Given the description of an element on the screen output the (x, y) to click on. 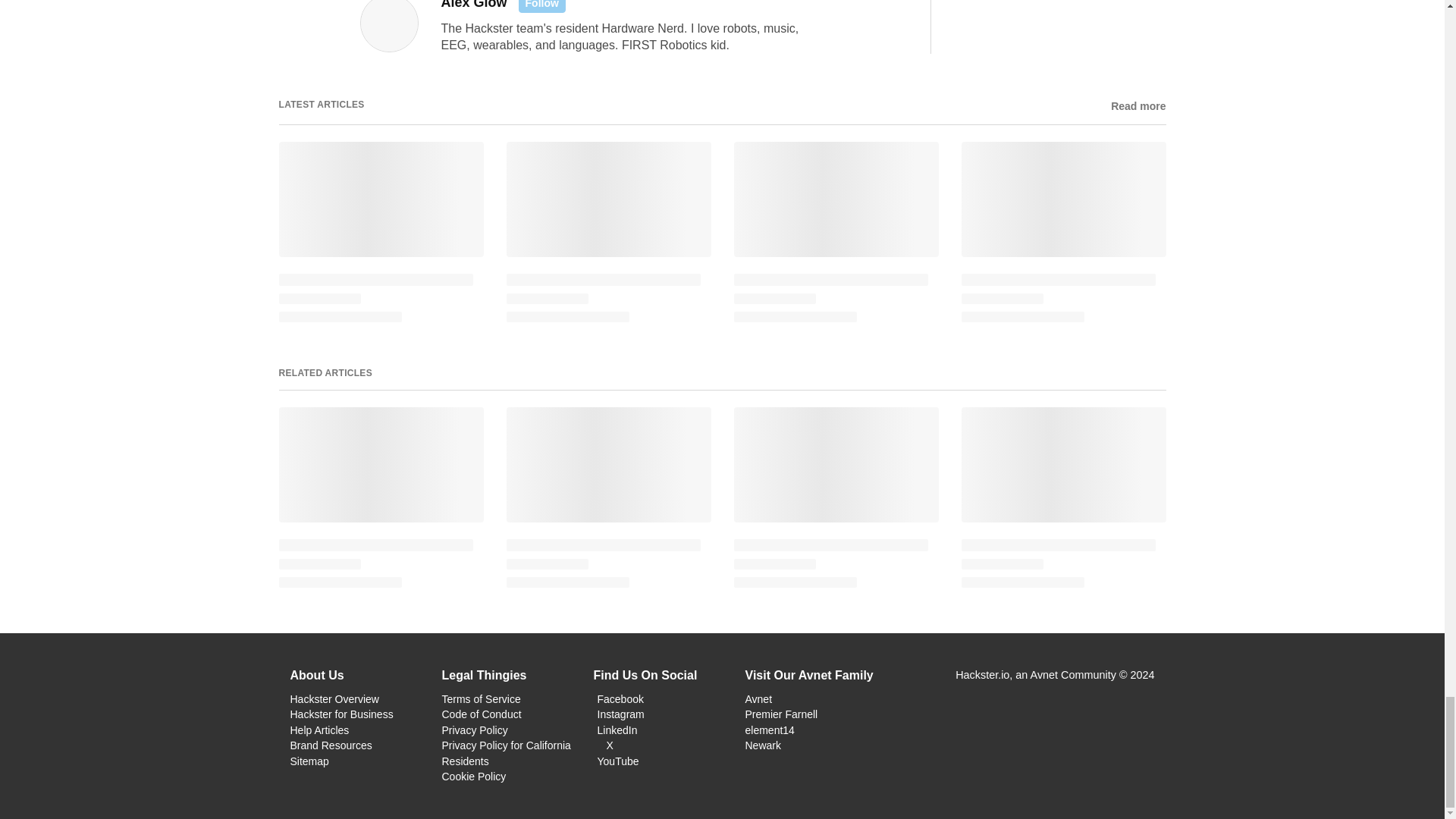
Hackster for Business (341, 714)
Hackster Overview (333, 698)
Help Articles (319, 729)
Brand Resources (330, 745)
Sitemap (309, 761)
